Given the description of an element on the screen output the (x, y) to click on. 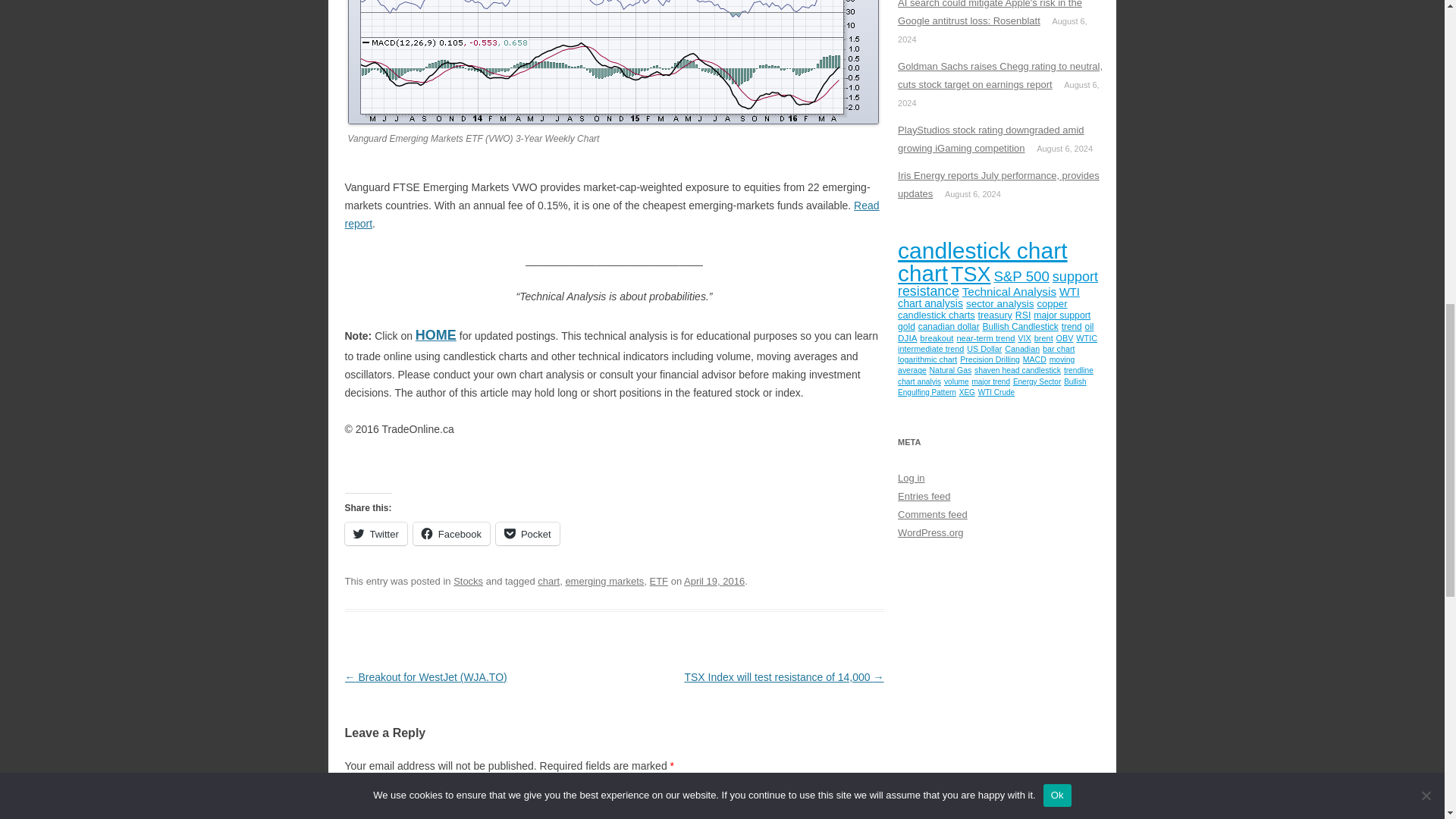
ETF (658, 581)
212 topics (970, 273)
April 19, 2016 (714, 581)
chart (548, 581)
Pocket (527, 533)
114 topics (1020, 276)
247 topics (982, 250)
Click to share on Facebook (451, 533)
106 topics (1074, 276)
102 topics (928, 290)
